Given the description of an element on the screen output the (x, y) to click on. 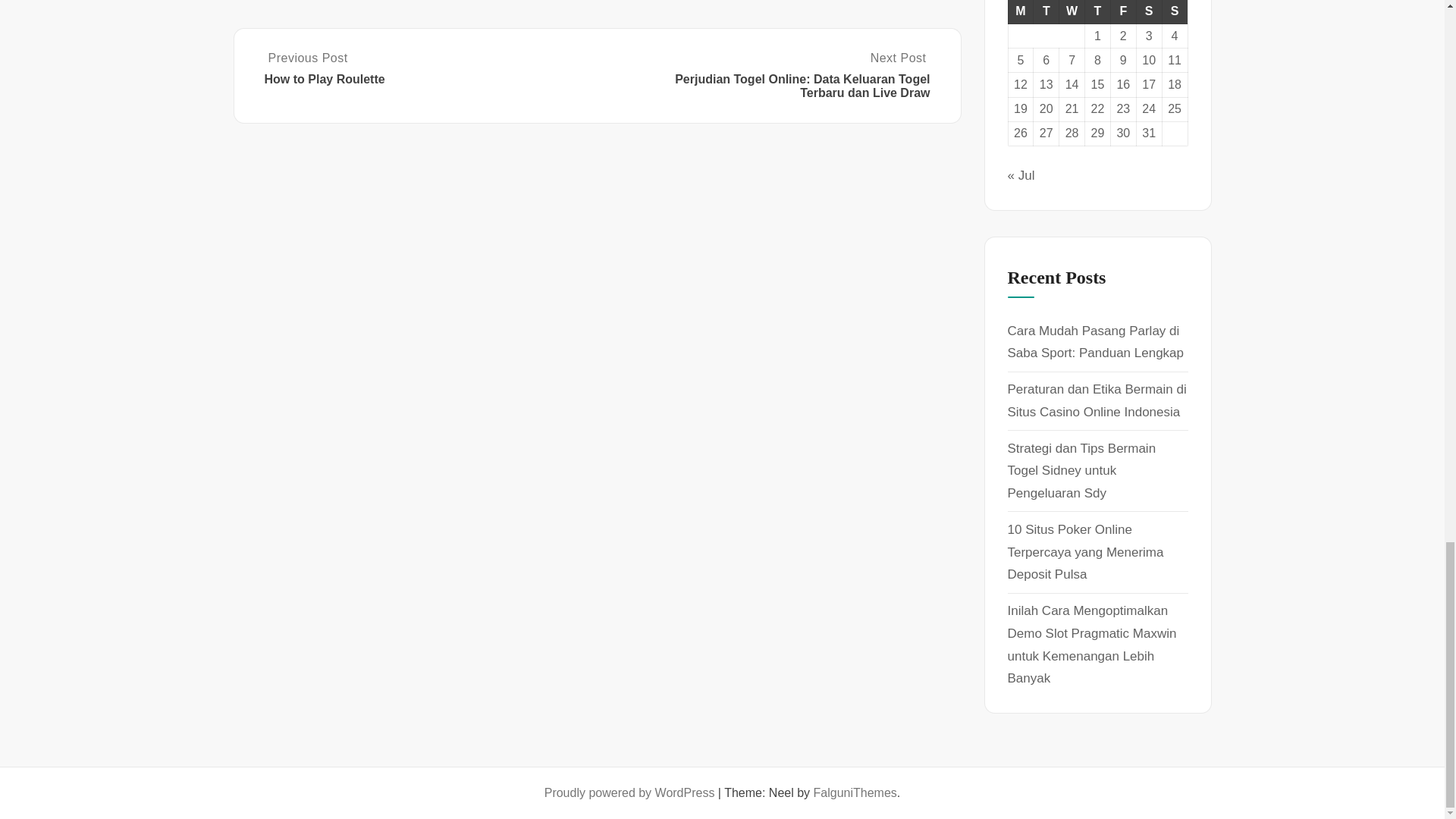
Wednesday (1071, 11)
Thursday (1097, 11)
Sunday (1174, 11)
Friday (1122, 11)
Monday (1020, 11)
Saturday (1148, 11)
Tuesday (1046, 11)
